Given the description of an element on the screen output the (x, y) to click on. 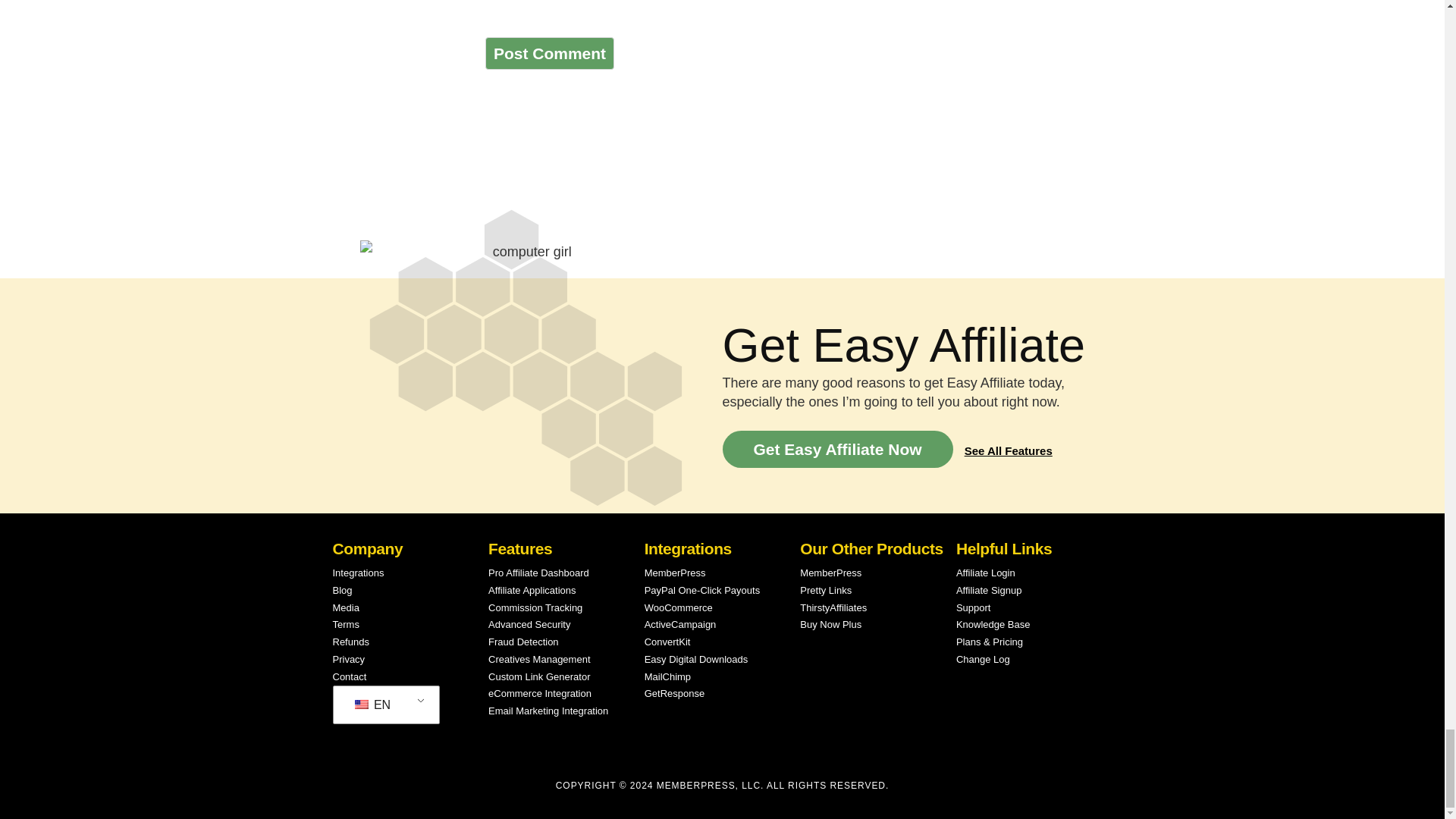
Post Comment (549, 52)
